Given the description of an element on the screen output the (x, y) to click on. 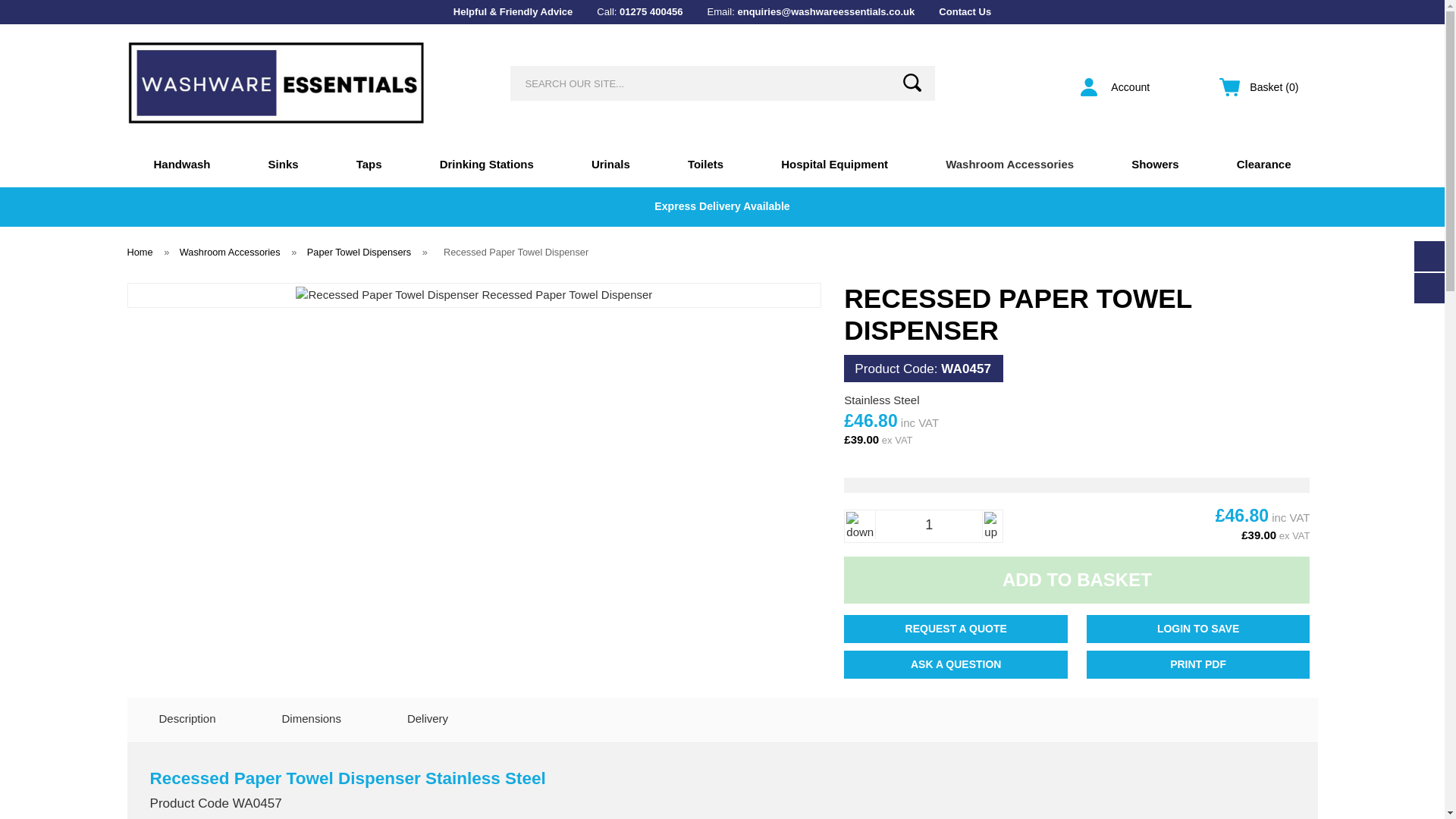
add to basket (1076, 579)
Handwash (180, 164)
Search (912, 82)
Washware Essentials (276, 82)
Account (1118, 86)
01275 400456 (651, 11)
Sinks (282, 164)
Contact Us (965, 11)
my account (1118, 86)
1 (928, 524)
